Given the description of an element on the screen output the (x, y) to click on. 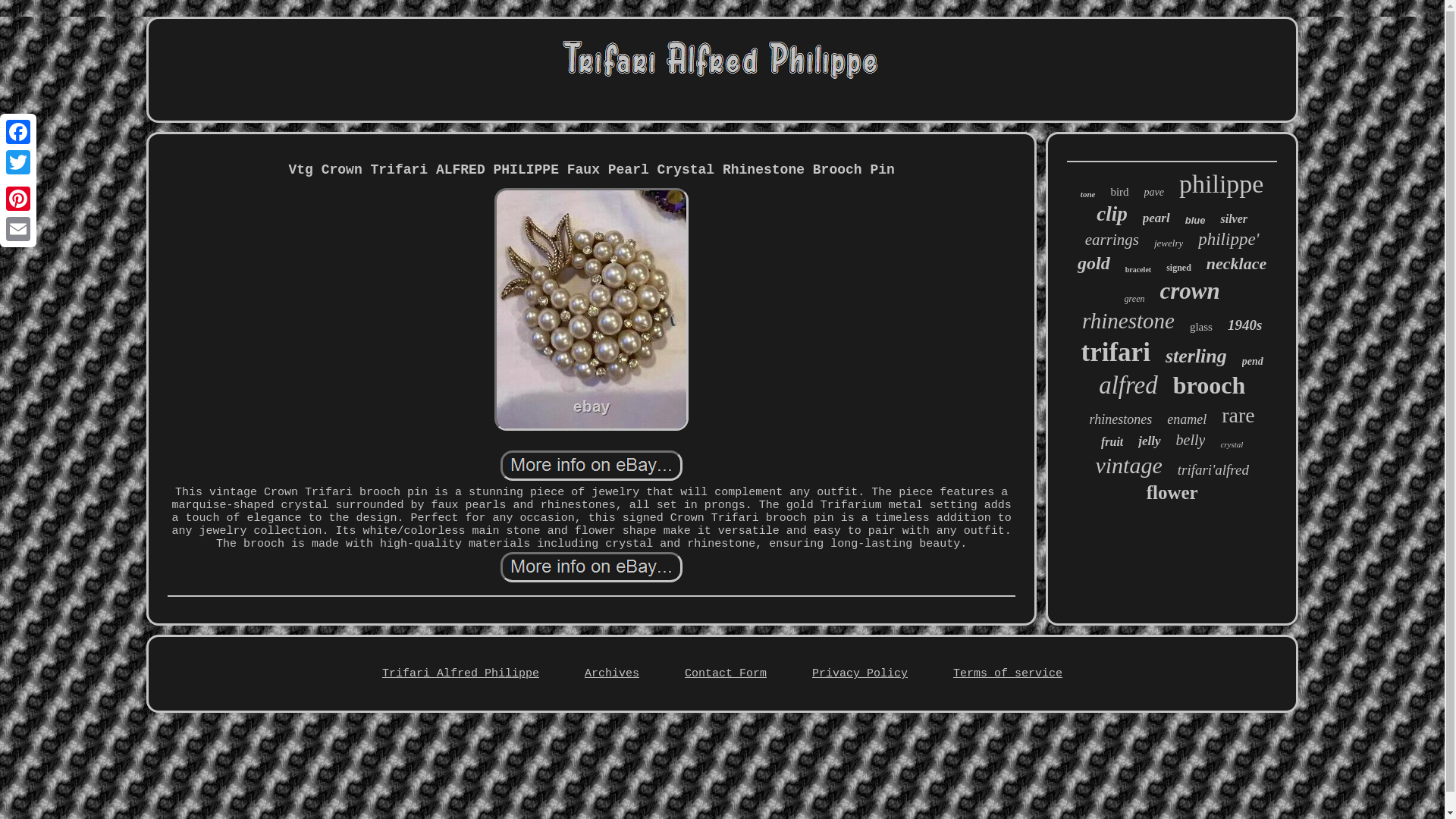
crown (1189, 290)
necklace (1236, 263)
Pinterest (17, 198)
trifari (1115, 352)
earrings (1111, 239)
Twitter (17, 162)
rhinestone (1127, 320)
rhinestones (1121, 419)
bracelet (1138, 269)
